Given the description of an element on the screen output the (x, y) to click on. 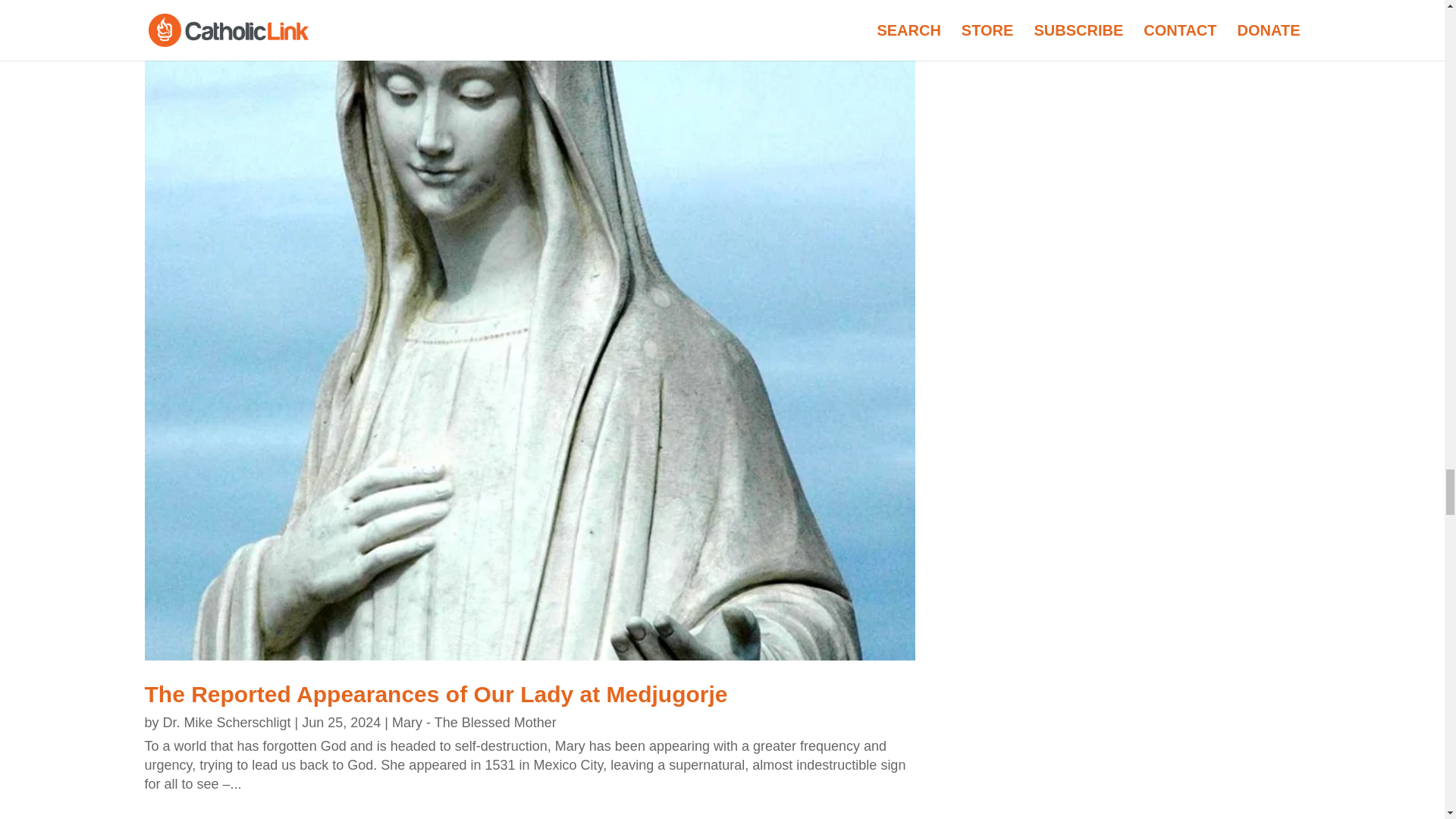
Posts by Dr. Mike Scherschligt (227, 722)
